Given the description of an element on the screen output the (x, y) to click on. 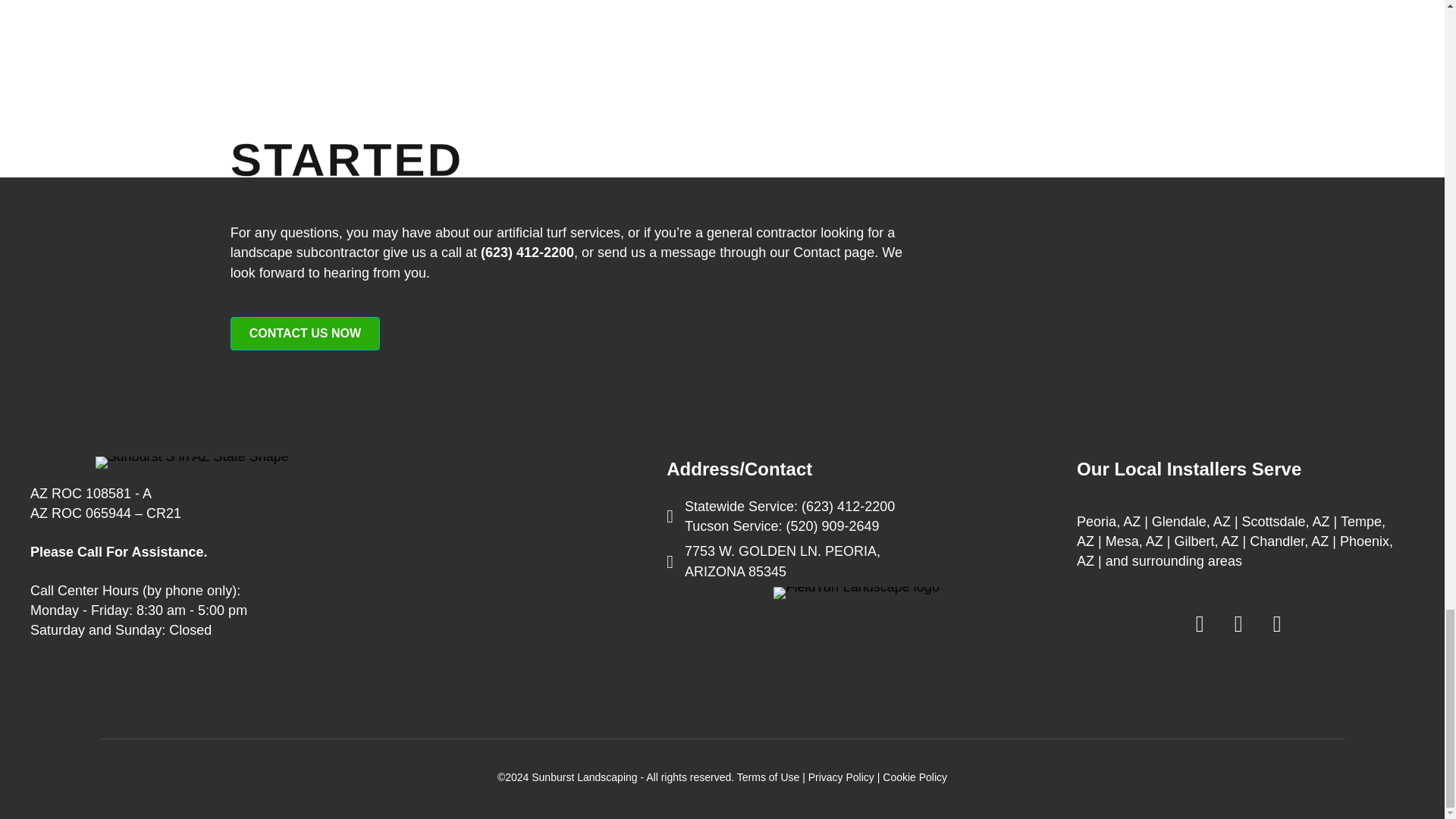
Sunburst S in AZ State Shape (192, 462)
FieldTurf Landscape logo (856, 592)
